Given the description of an element on the screen output the (x, y) to click on. 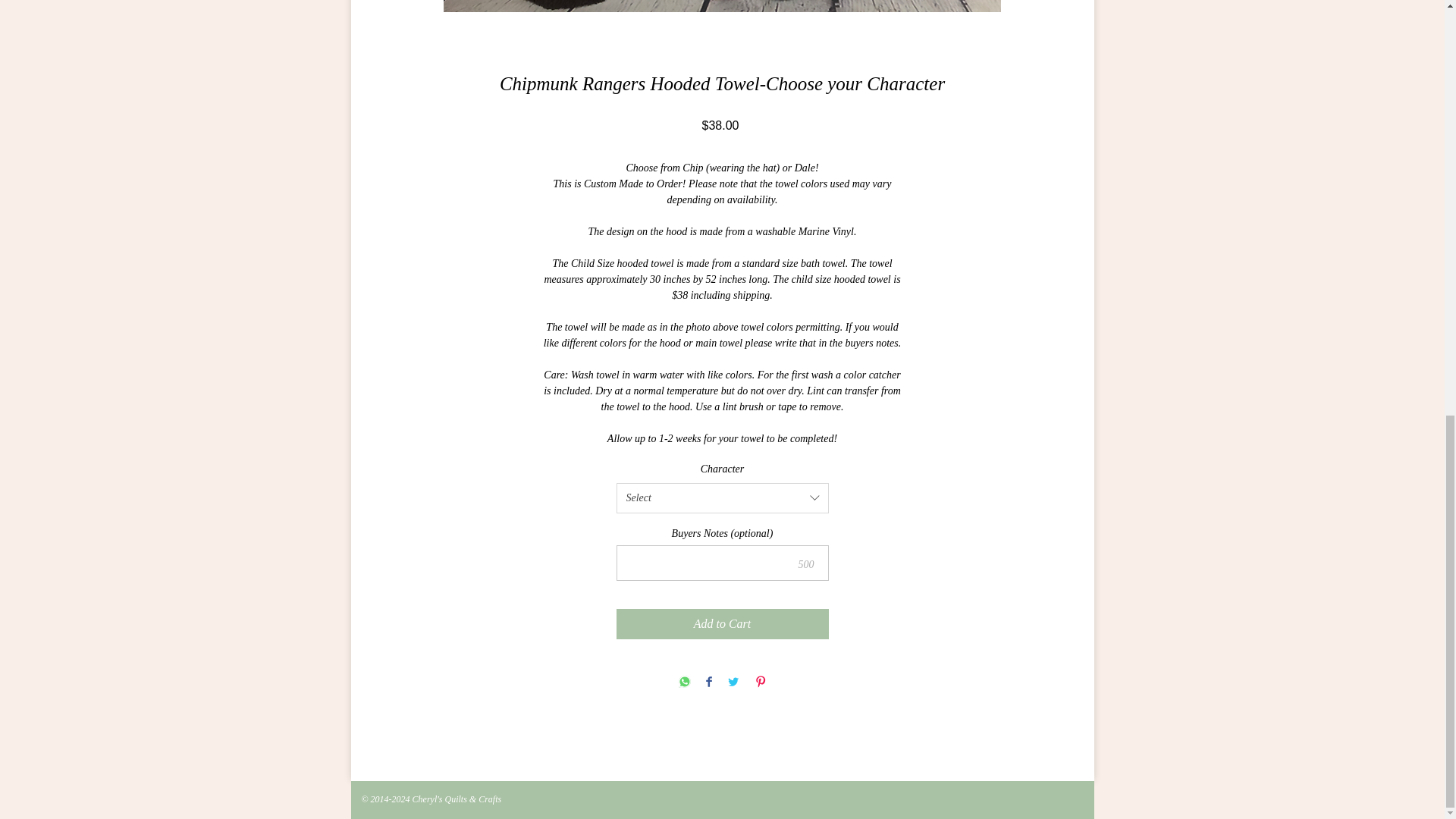
Select (721, 498)
Add to Cart (721, 624)
